Given the description of an element on the screen output the (x, y) to click on. 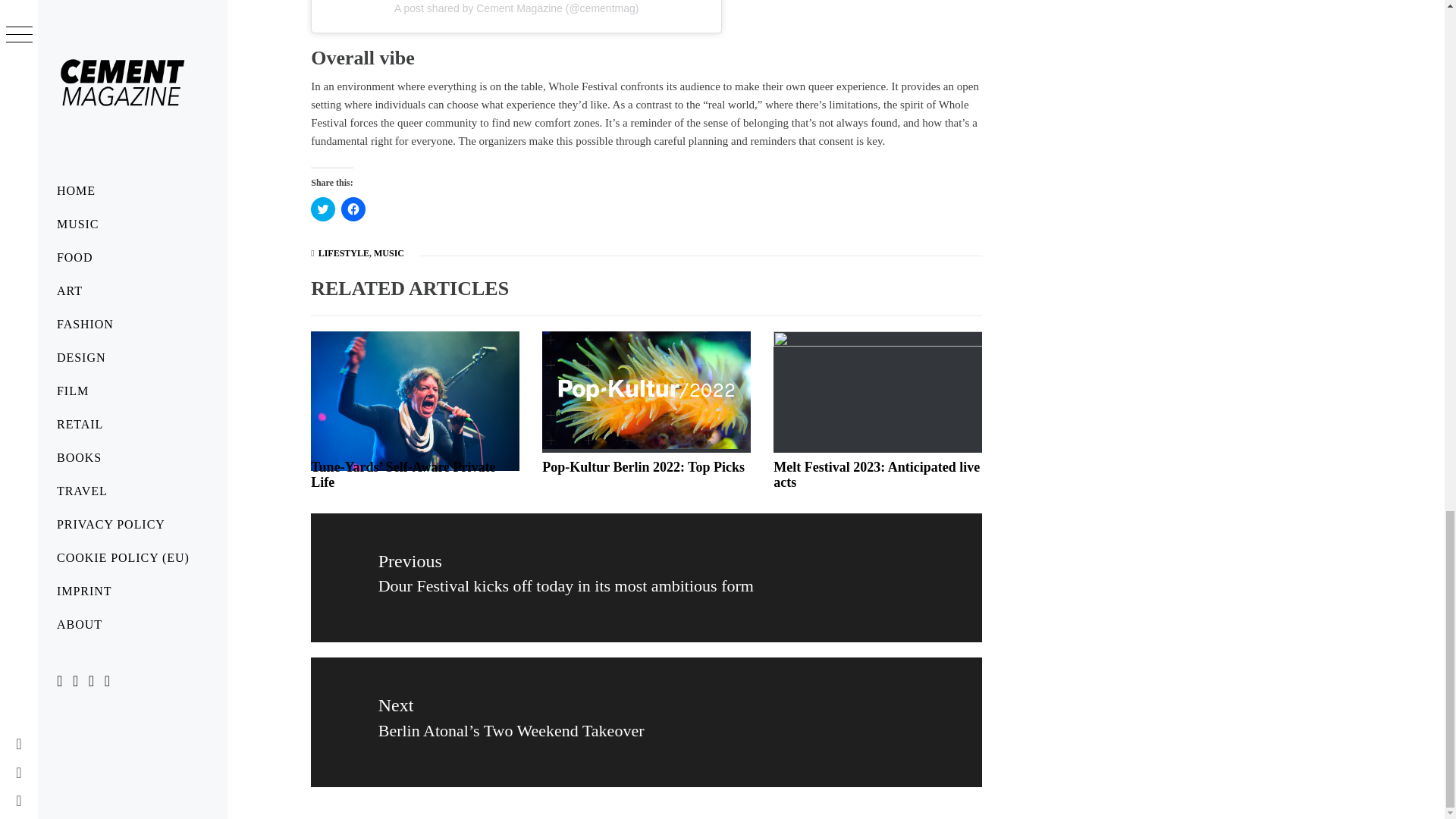
Click to share on Twitter (322, 209)
MUSIC (389, 253)
Click to share on Facebook (352, 209)
LIFESTYLE (343, 253)
